Given the description of an element on the screen output the (x, y) to click on. 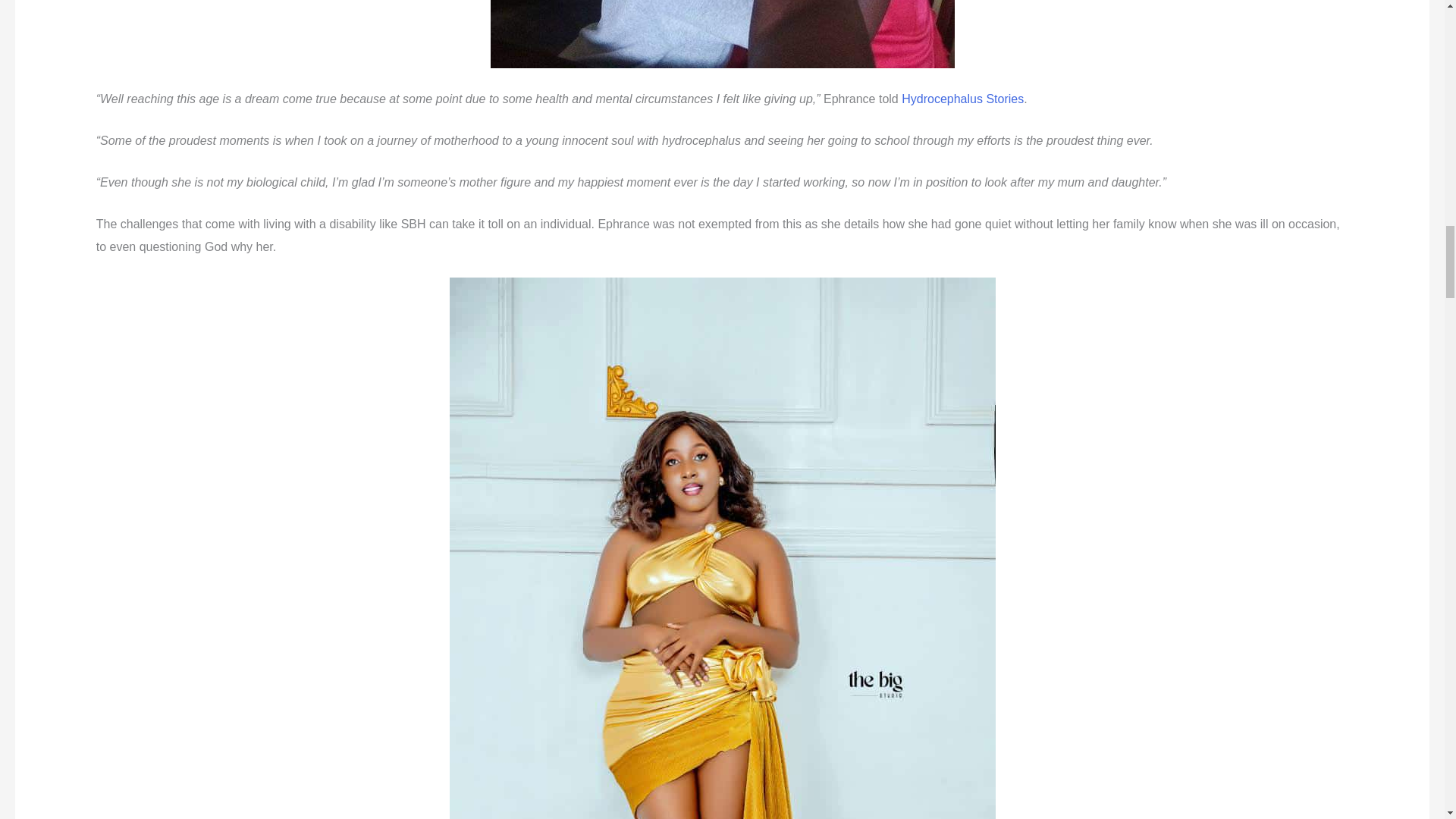
Hydrocephalus Stories (962, 98)
